Given the description of an element on the screen output the (x, y) to click on. 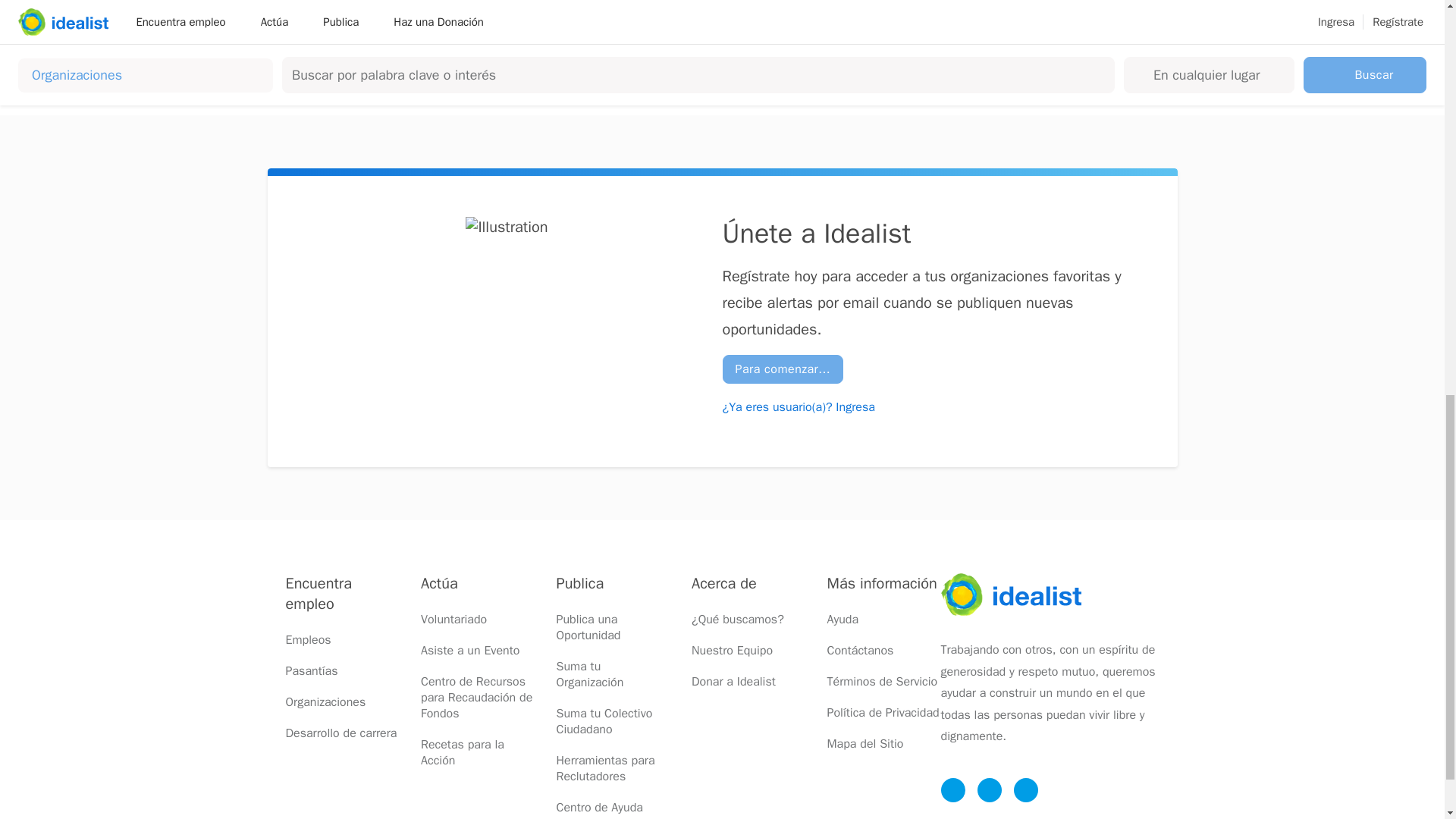
Para comenzar... (782, 369)
